Given the description of an element on the screen output the (x, y) to click on. 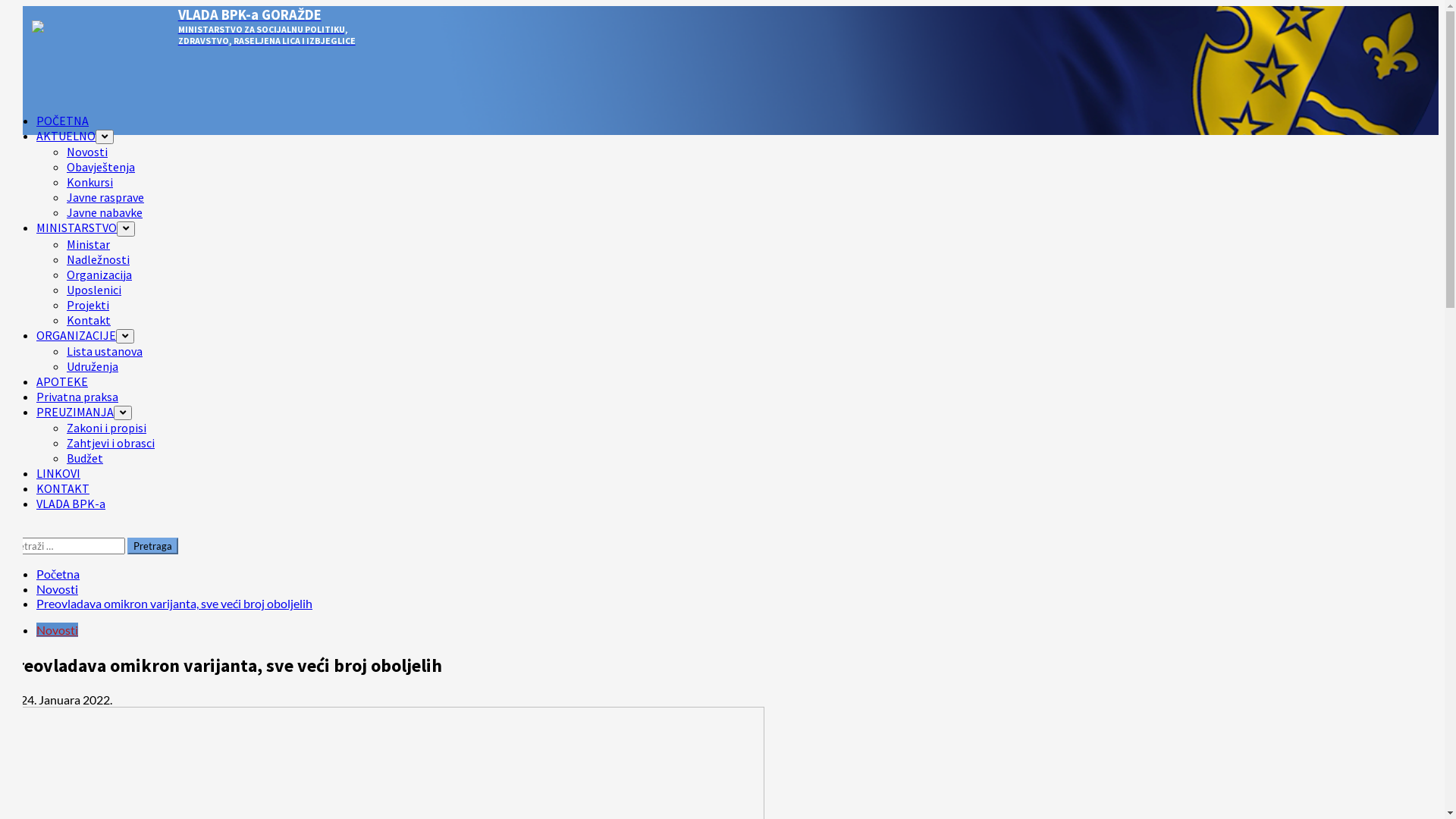
ORGANIZACIJE Element type: text (85, 334)
LINKOVI Element type: text (58, 472)
Uposlenici Element type: text (93, 289)
Javne nabavke Element type: text (104, 211)
Javne rasprave Element type: text (105, 196)
Zahtjevi i obrasci Element type: text (110, 442)
Search Element type: hover (12, 530)
Novosti Element type: text (57, 588)
AKTUELNO Element type: text (74, 135)
VLADA BPK-a Element type: text (70, 503)
Skip to content Element type: text (5, 5)
Ministar Element type: text (87, 243)
APOTEKE Element type: text (61, 381)
Novosti Element type: text (57, 629)
Projekti Element type: text (87, 304)
Zakoni i propisi Element type: text (106, 427)
Novosti Element type: text (86, 151)
KONTAKT Element type: text (62, 487)
Pretraga Element type: text (152, 545)
Kontakt Element type: text (88, 319)
MINISTARSTVO Element type: text (85, 227)
PREUZIMANJA Element type: text (83, 411)
Organizacija Element type: text (98, 274)
Privatna praksa Element type: text (77, 396)
Lista ustanova Element type: text (104, 350)
Konkursi Element type: text (89, 181)
